Given the description of an element on the screen output the (x, y) to click on. 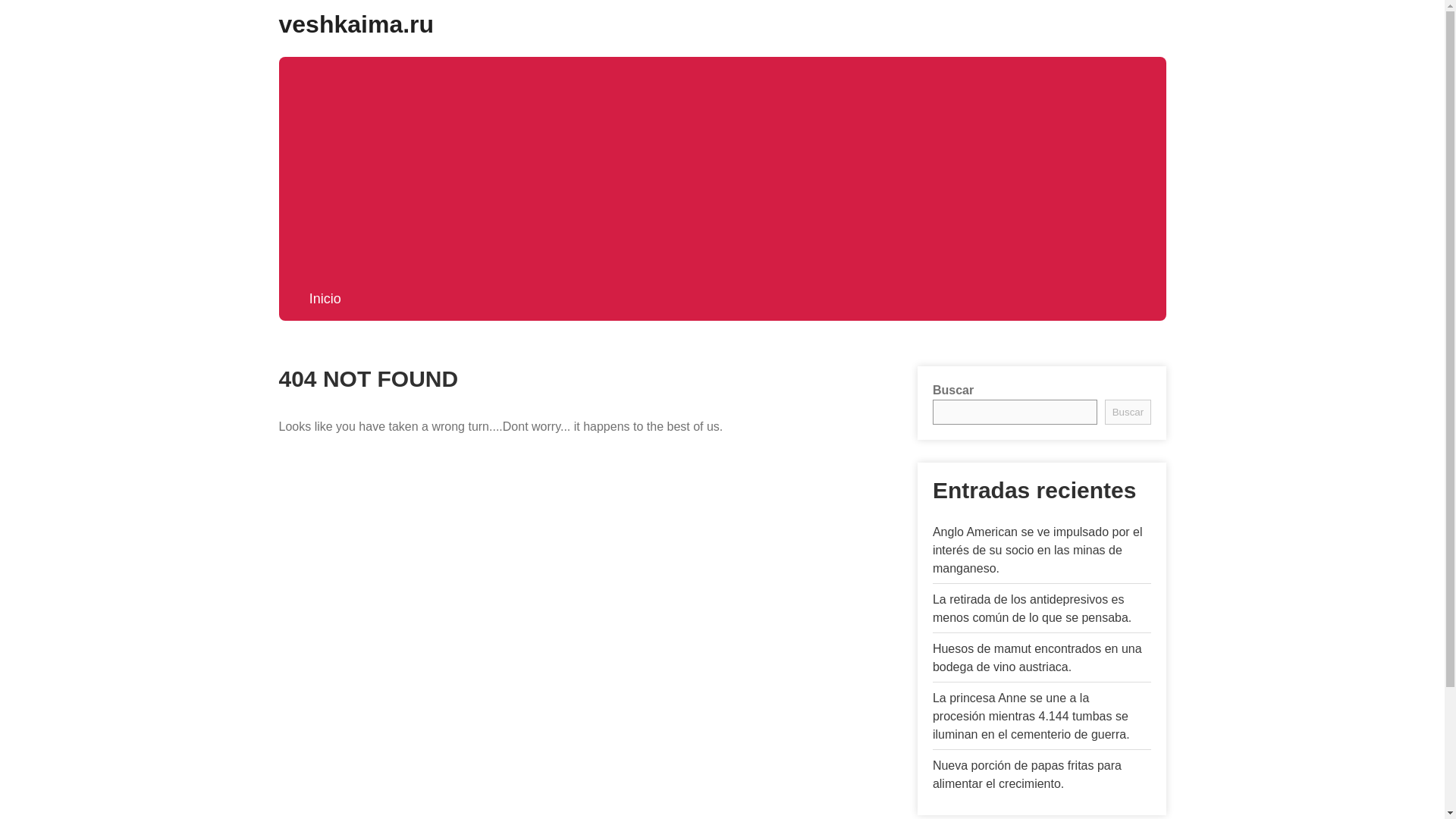
Inicio (324, 298)
Buscar (1127, 412)
Huesos de mamut encontrados en una bodega de vino austriaca. (1037, 657)
veshkaima.ru (356, 23)
